Given the description of an element on the screen output the (x, y) to click on. 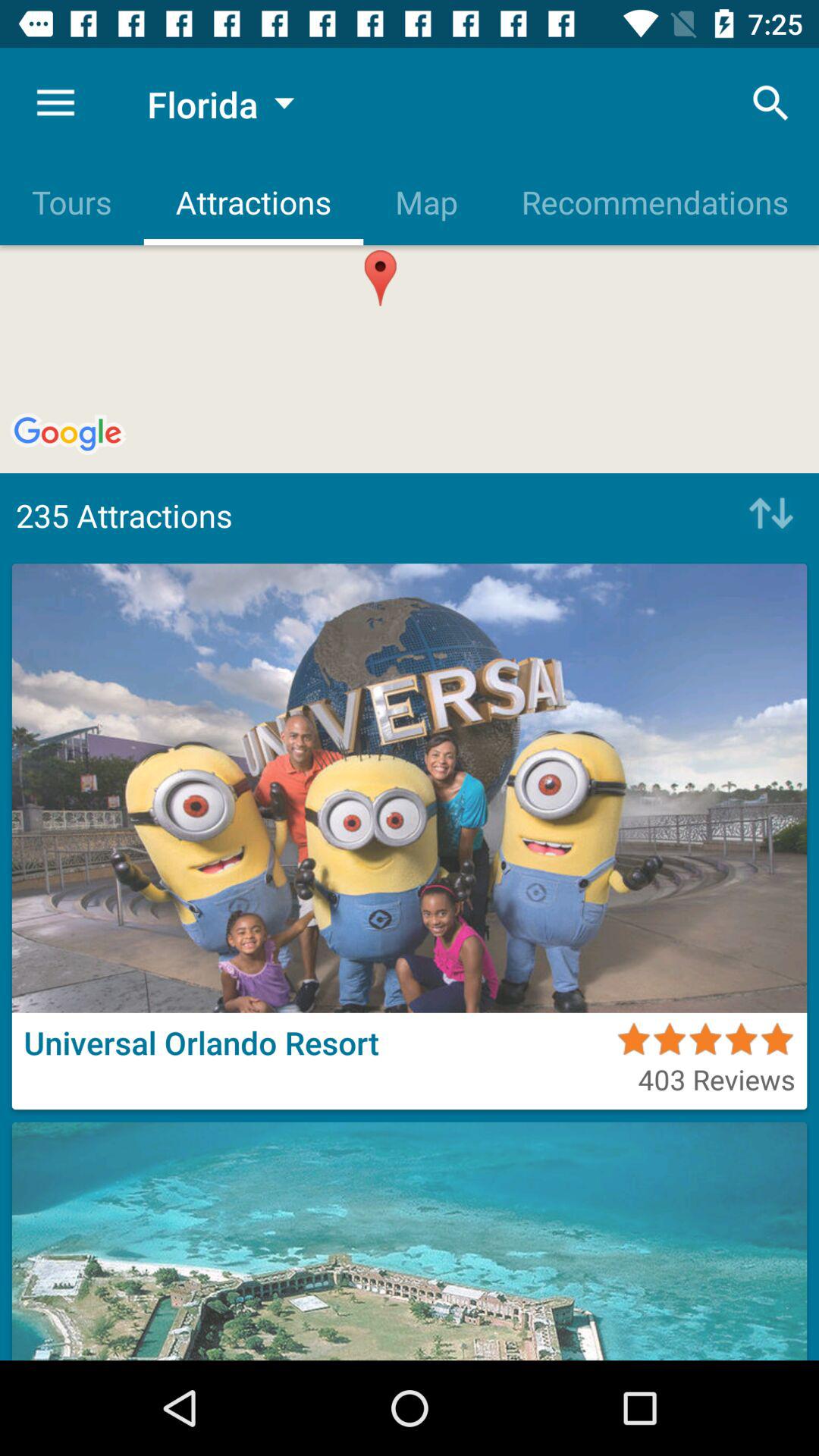
launch the icon to the left of florida item (55, 103)
